Given the description of an element on the screen output the (x, y) to click on. 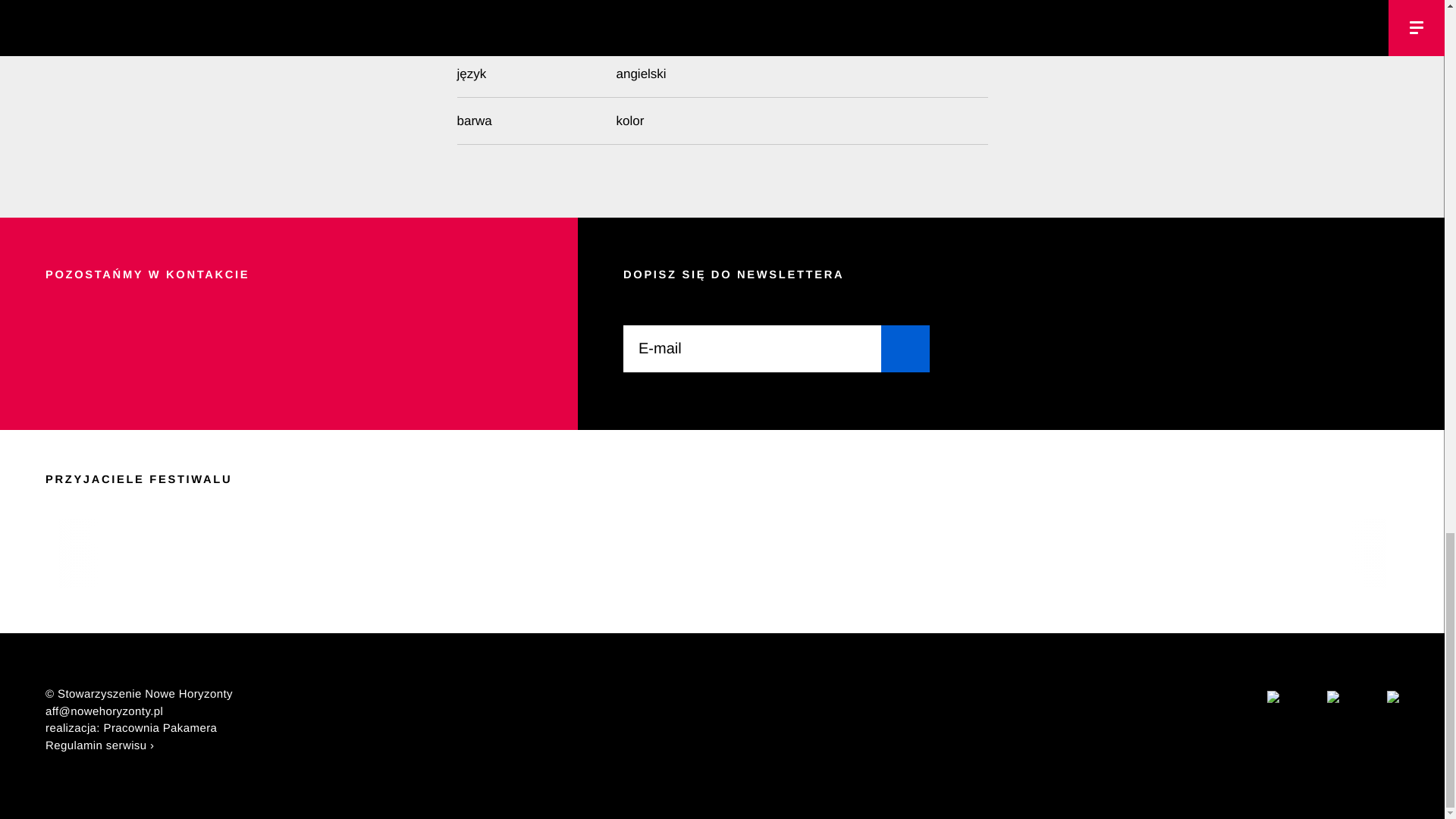
Pracownia Pakamera (159, 727)
